Given the description of an element on the screen output the (x, y) to click on. 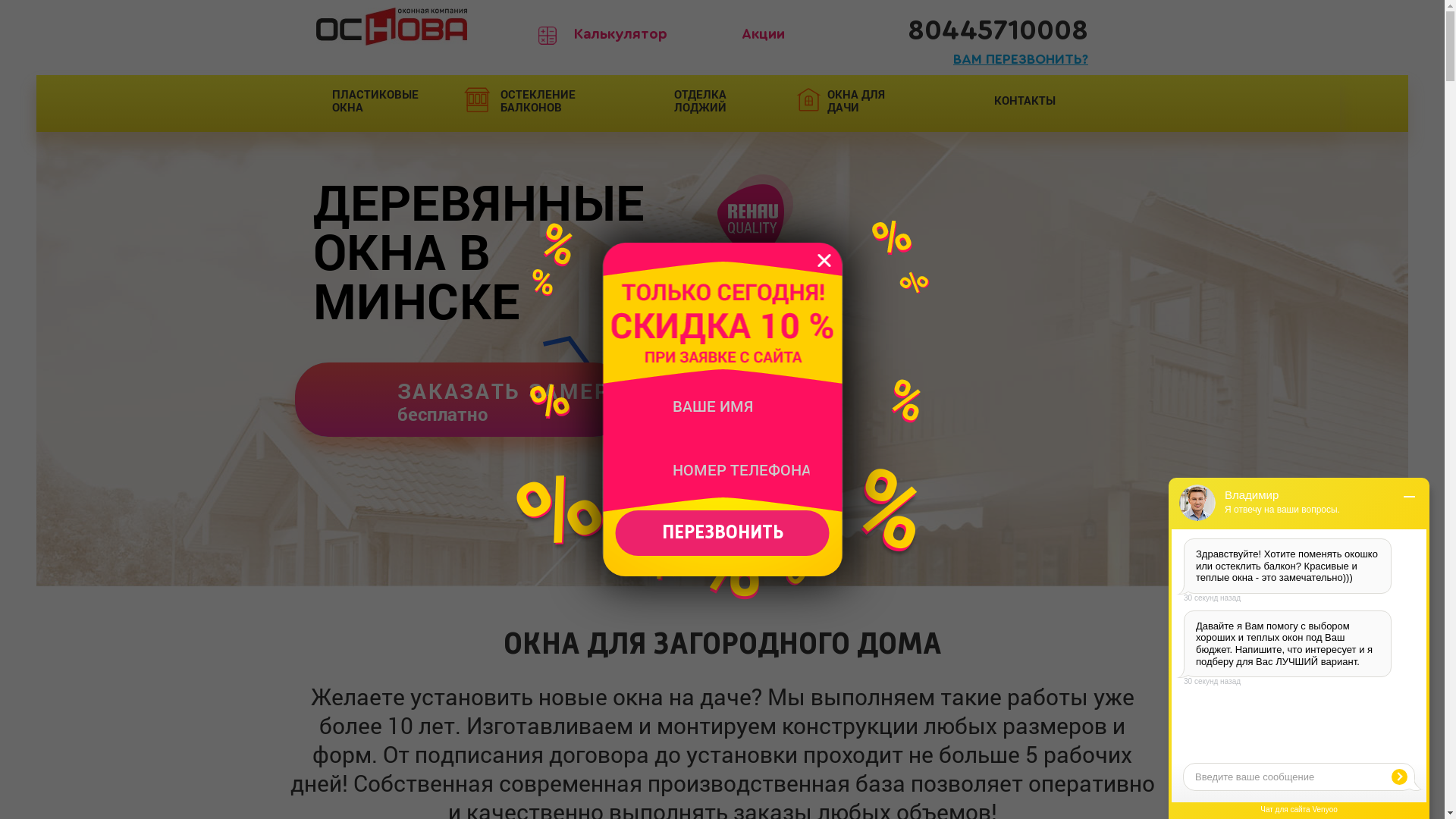
80445710008 Element type: text (997, 30)
